Given the description of an element on the screen output the (x, y) to click on. 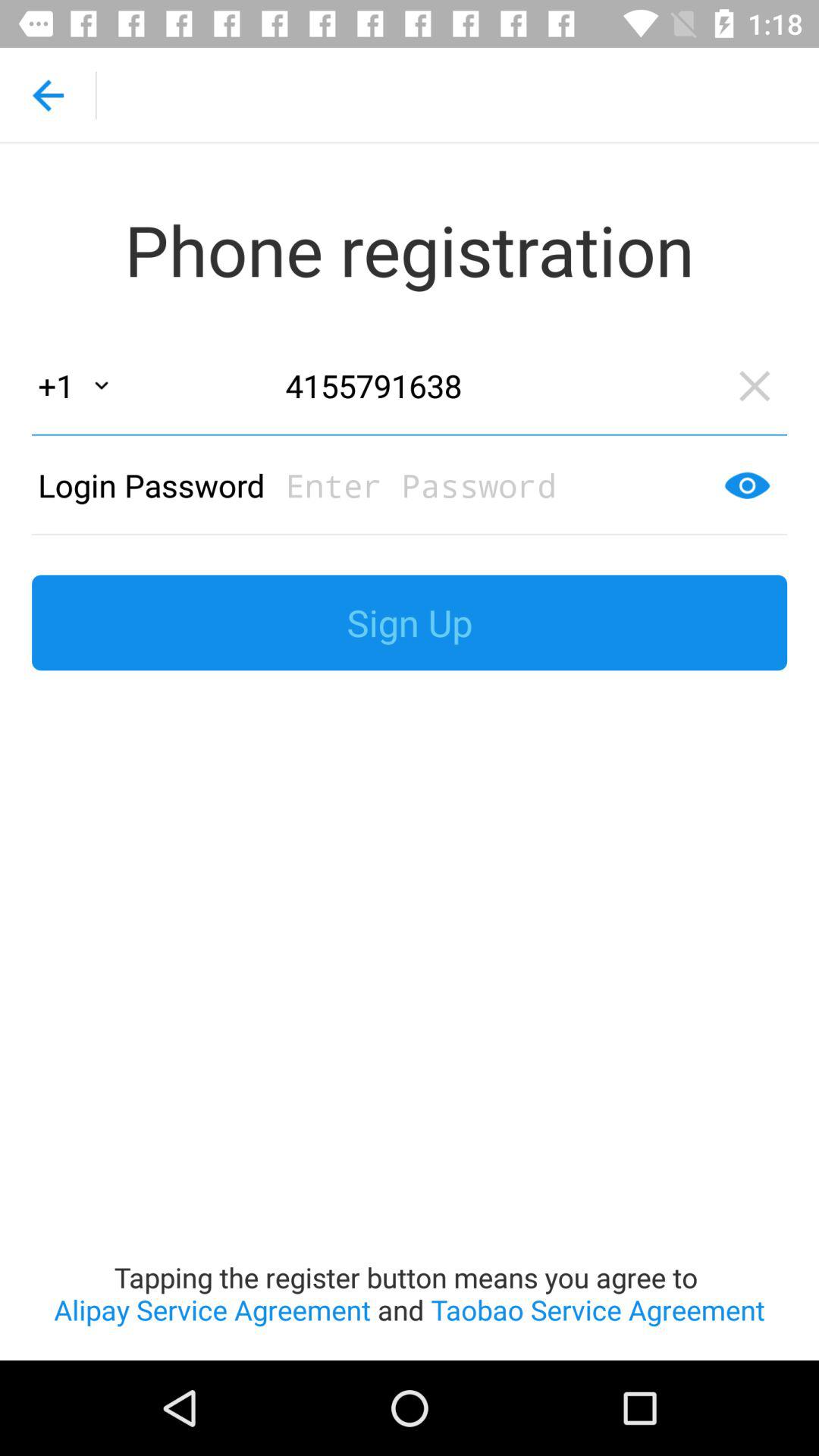
launch sign up item (409, 622)
